Given the description of an element on the screen output the (x, y) to click on. 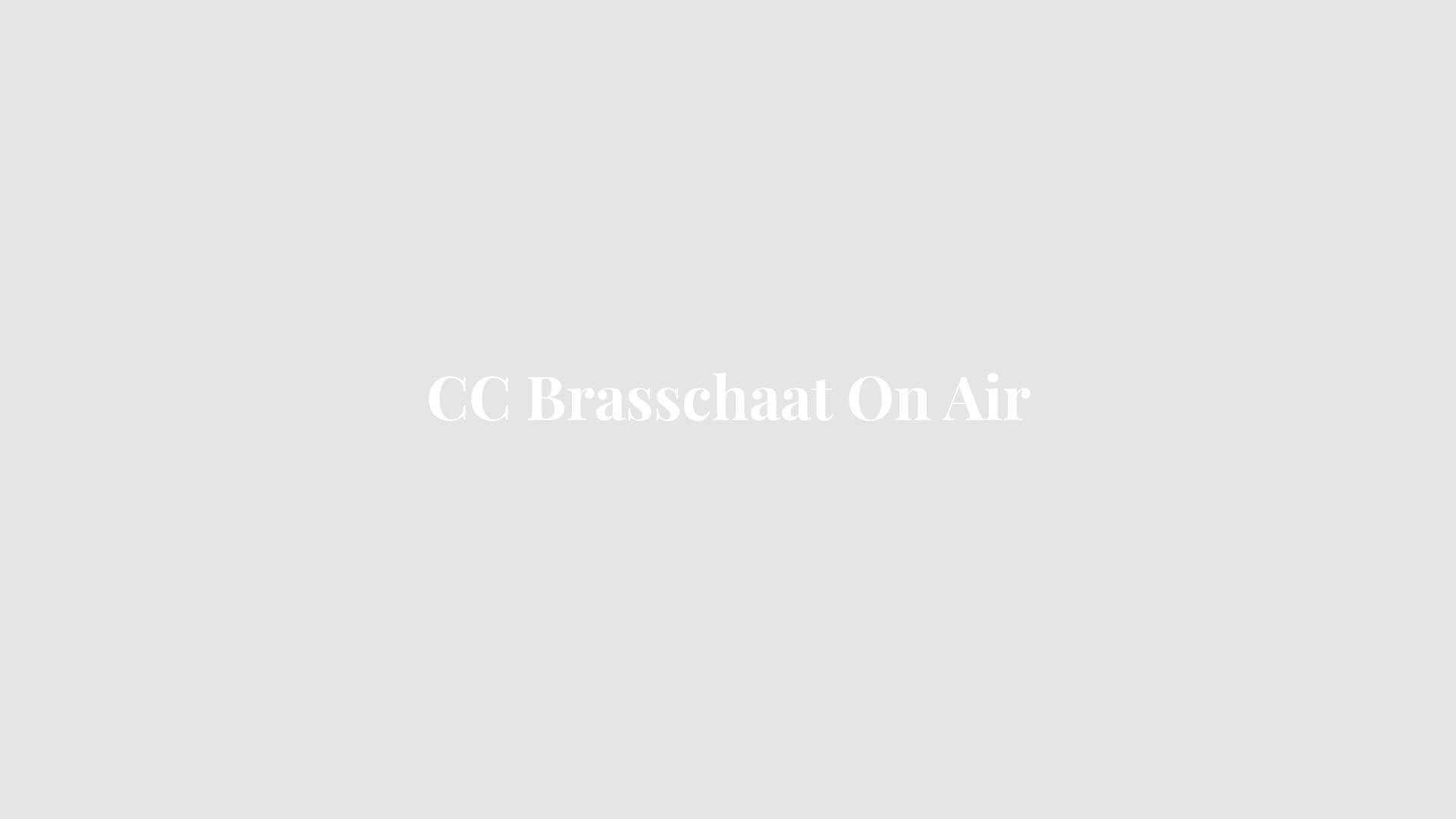
CC Brasschaat On Air Element type: text (728, 407)
